Given the description of an element on the screen output the (x, y) to click on. 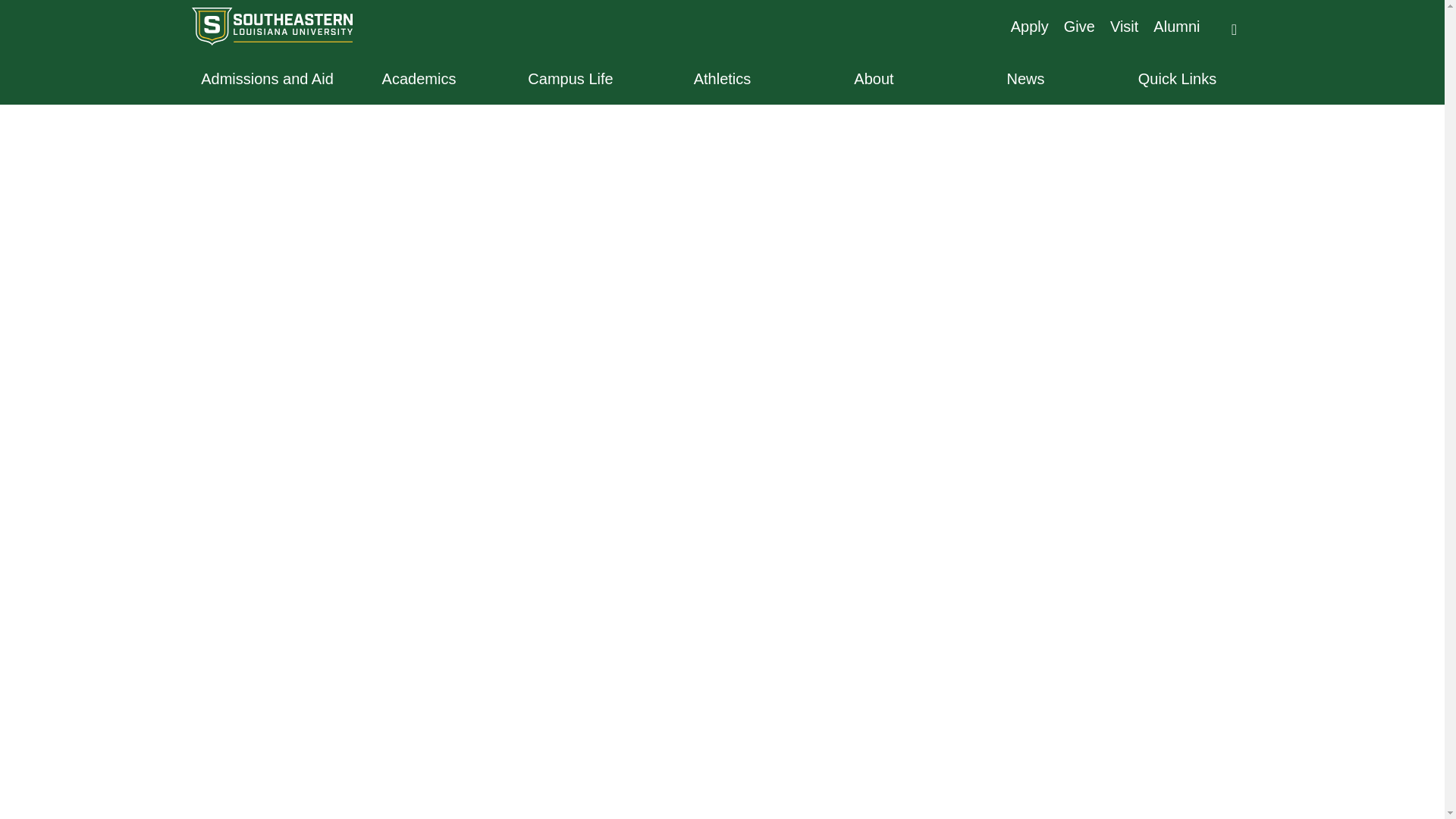
Apply (1029, 26)
Alumni (1176, 26)
Give (1079, 26)
Academics (418, 78)
Visit (1123, 26)
Admissions and Aid (266, 78)
Campus Life (570, 78)
